Given the description of an element on the screen output the (x, y) to click on. 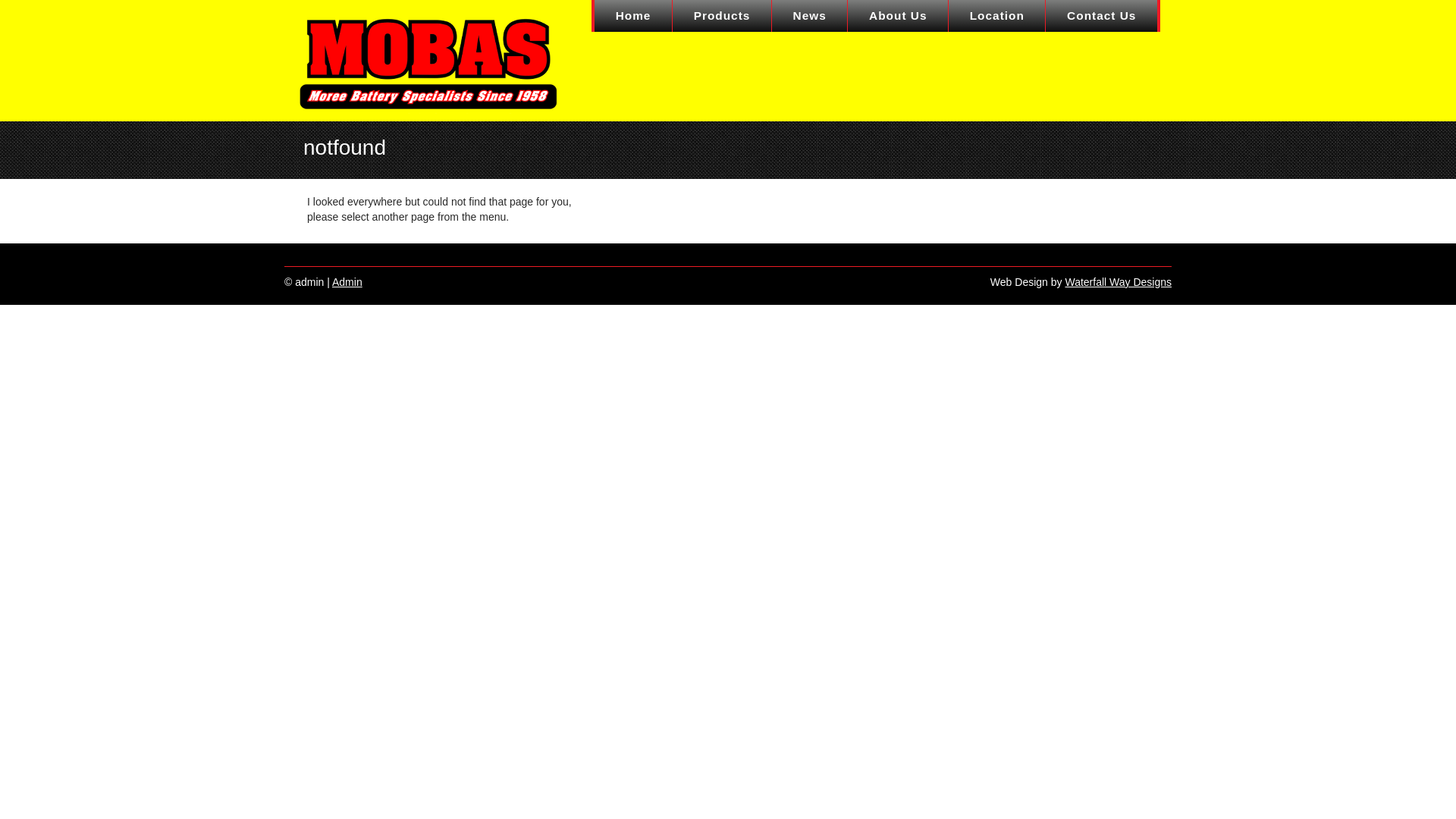
Products Element type: text (721, 15)
Waterfall Way Designs Element type: text (1117, 282)
News Element type: text (809, 15)
Contact Us Element type: text (1101, 15)
Home Element type: text (633, 15)
Admin Element type: text (347, 282)
Location Element type: text (996, 15)
About Us Element type: text (897, 15)
